Given the description of an element on the screen output the (x, y) to click on. 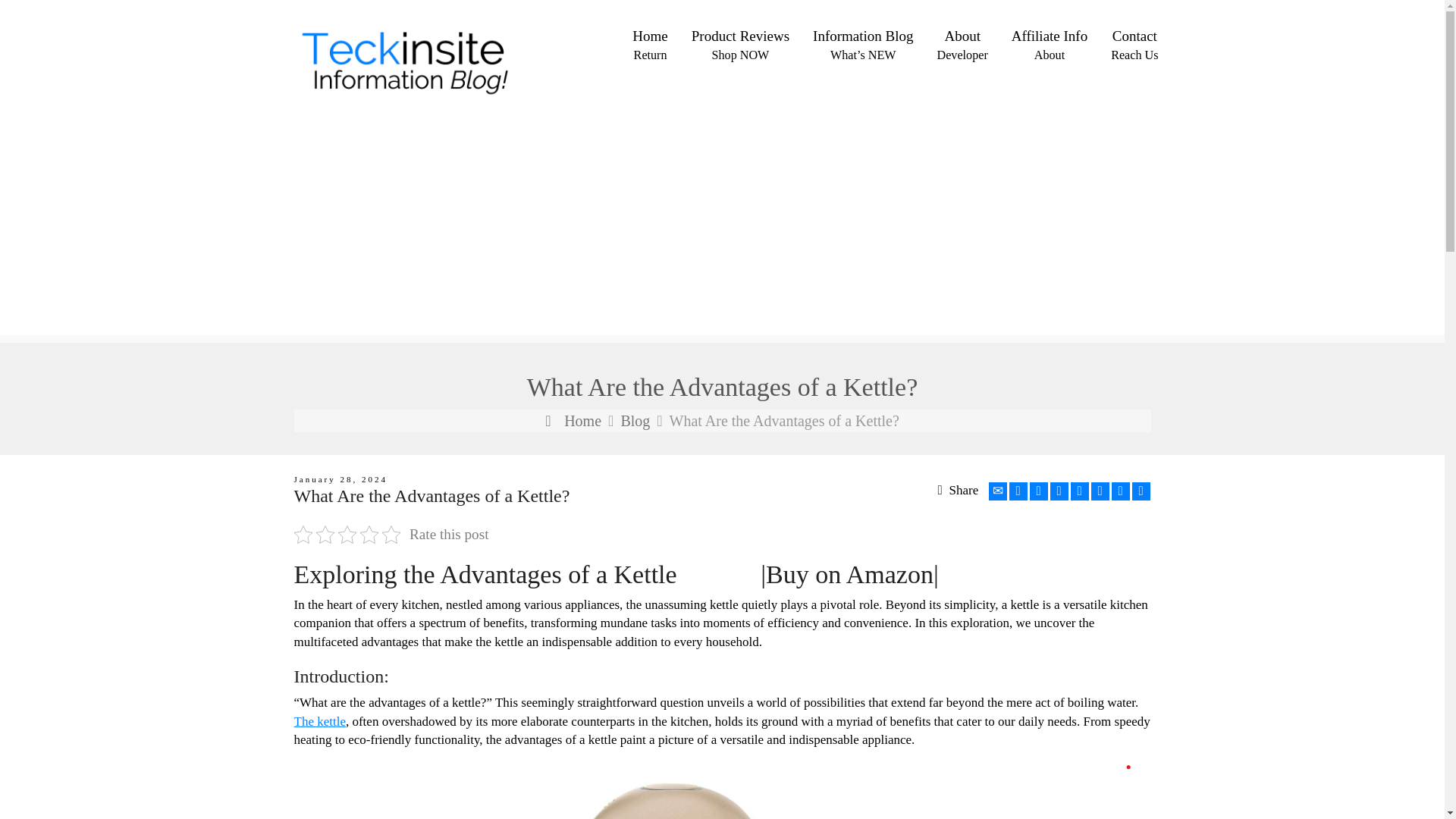
Facebook (1038, 491)
Teck In Site Information Blog (424, 56)
Pinterest (1079, 491)
Linkedin (1120, 491)
Blog (1049, 44)
Advertisement (634, 420)
The kettle (1099, 491)
Home (320, 721)
Email (572, 420)
Vkontakte (997, 491)
Twitter (740, 44)
